Given the description of an element on the screen output the (x, y) to click on. 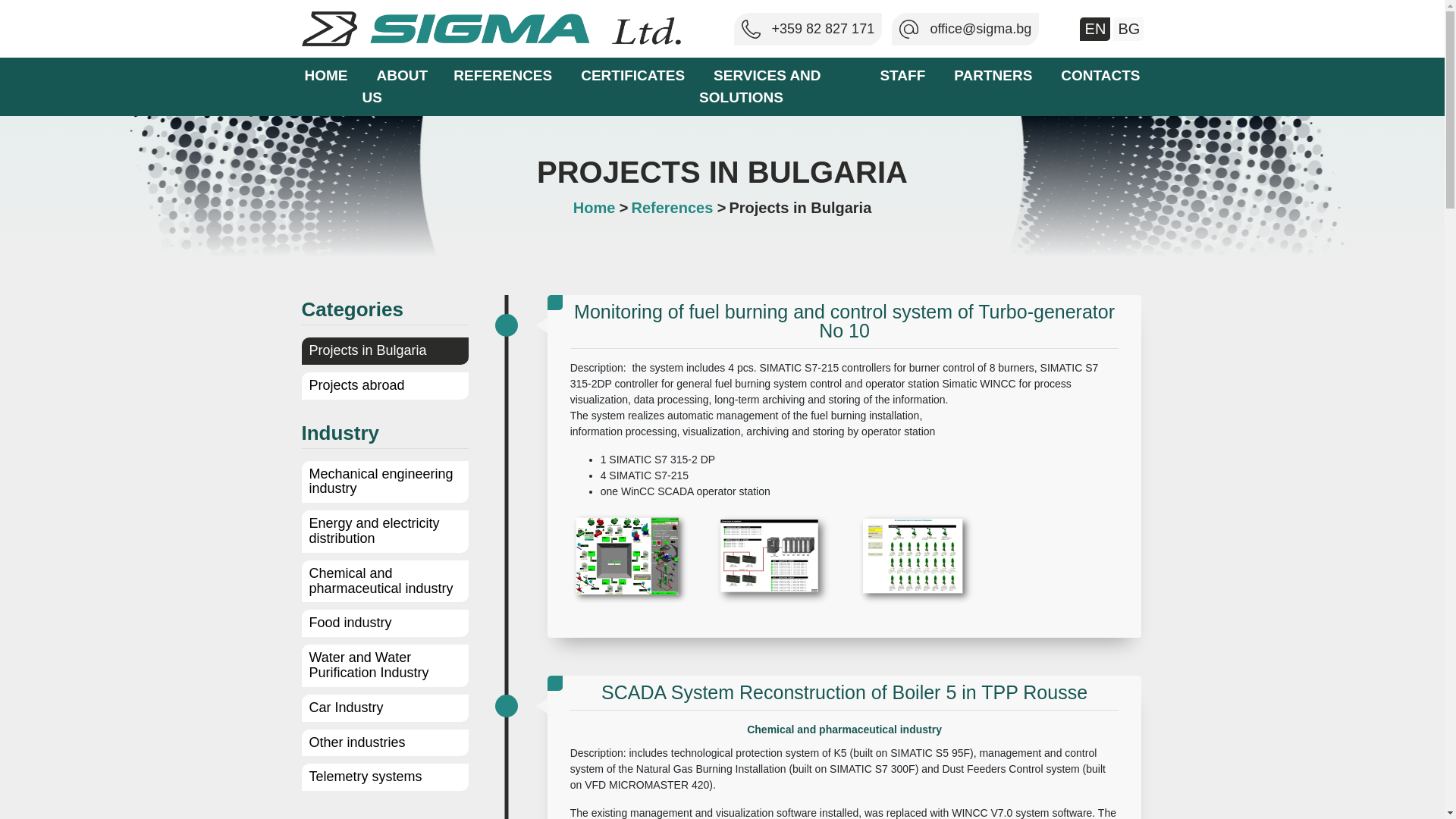
HOME (325, 75)
Water and Water Purification Industry (368, 665)
EN (1096, 28)
Mechanical engineering industry (380, 481)
Food industry (349, 622)
Telemetry systems (365, 776)
CERTIFICATES (632, 75)
PARTNERS (992, 75)
SERVICES AND SOLUTIONS (759, 86)
Home (596, 207)
CONTACTS (1100, 75)
Projects in Bulgaria (367, 350)
STAFF (901, 75)
Energy and electricity distribution (373, 530)
Chemical and pharmaceutical industry (380, 580)
